Given the description of an element on the screen output the (x, y) to click on. 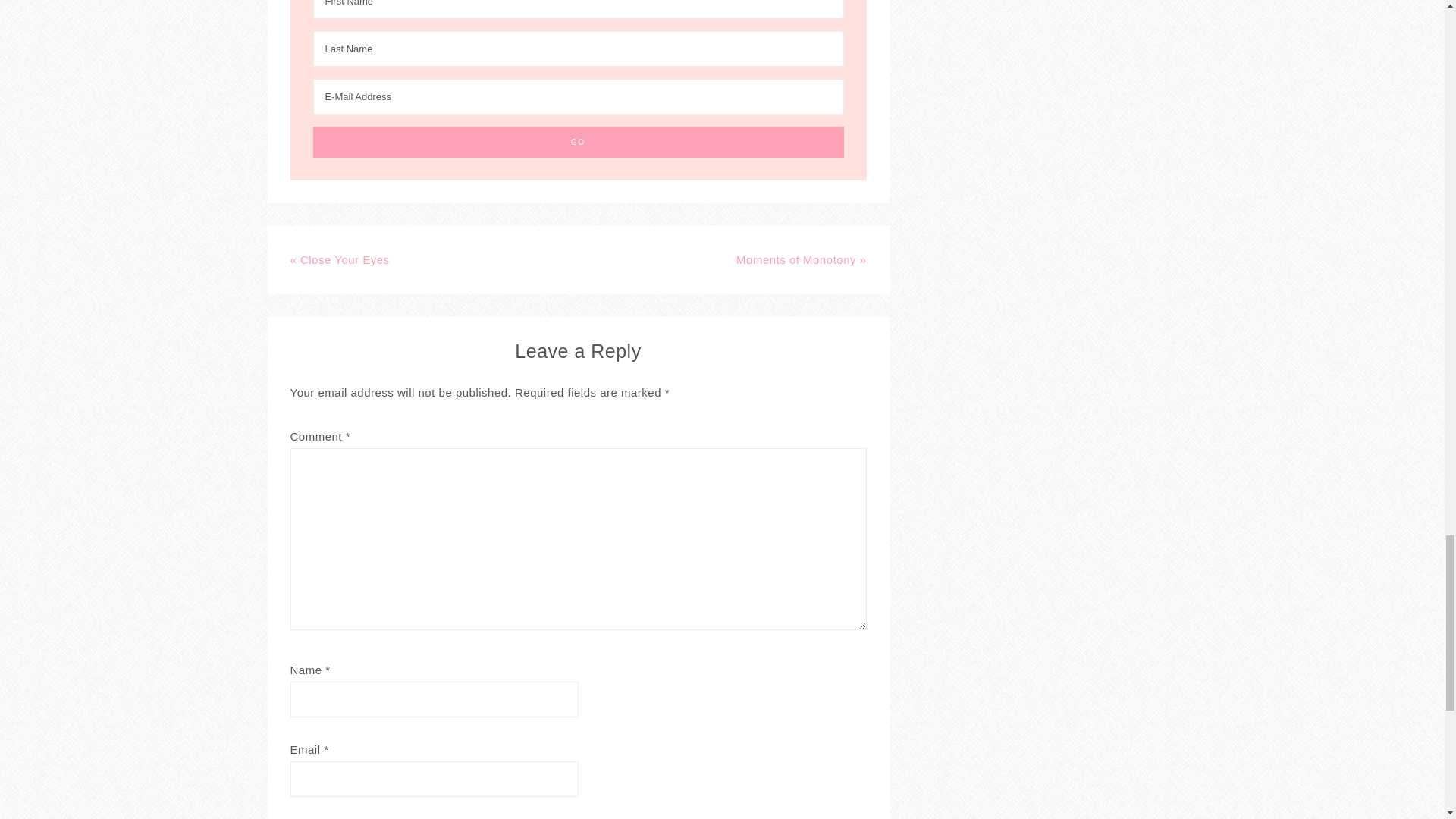
Go (578, 142)
Go (578, 142)
